Given the description of an element on the screen output the (x, y) to click on. 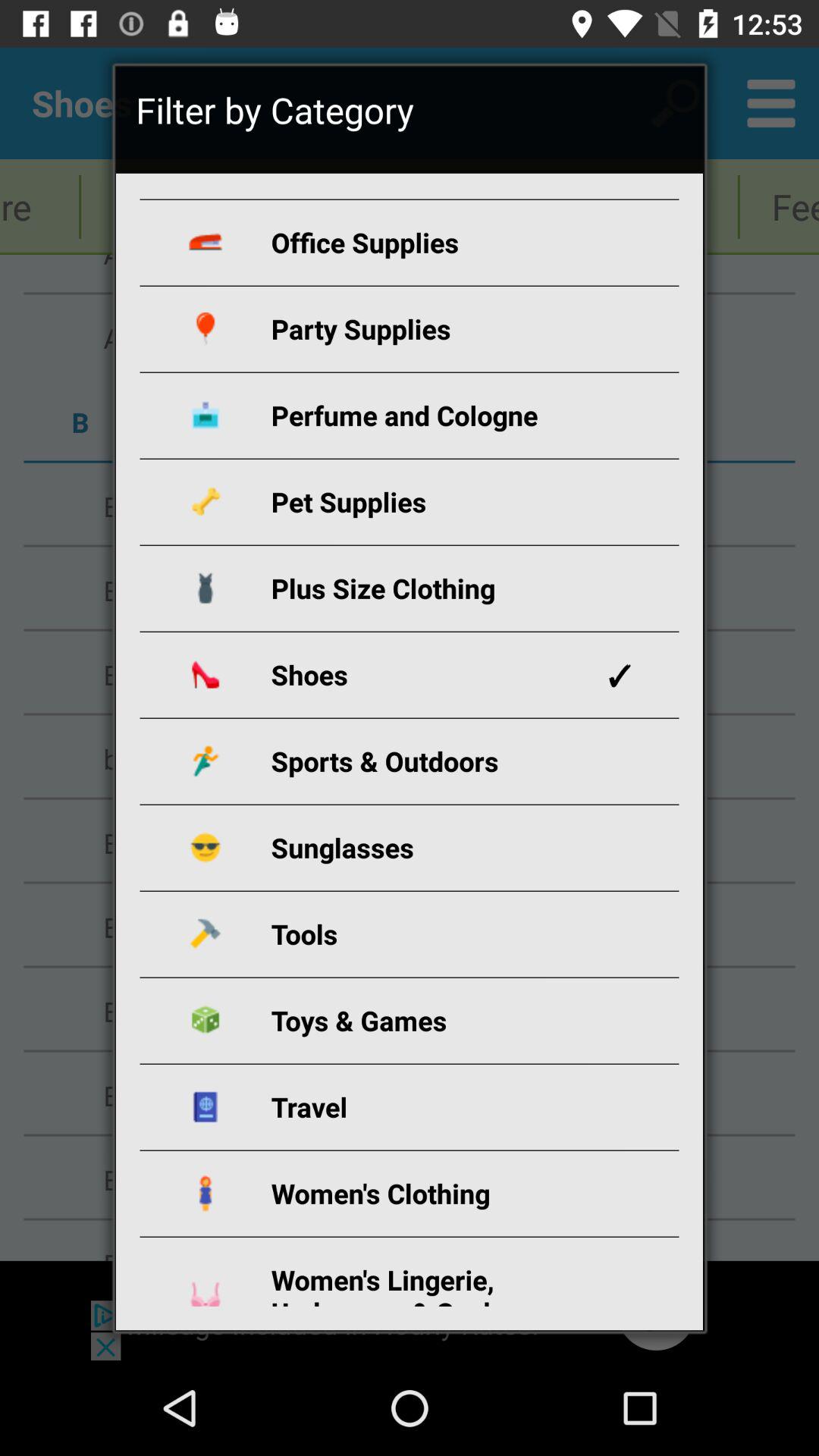
choose icon above the pet supplies icon (427, 414)
